Given the description of an element on the screen output the (x, y) to click on. 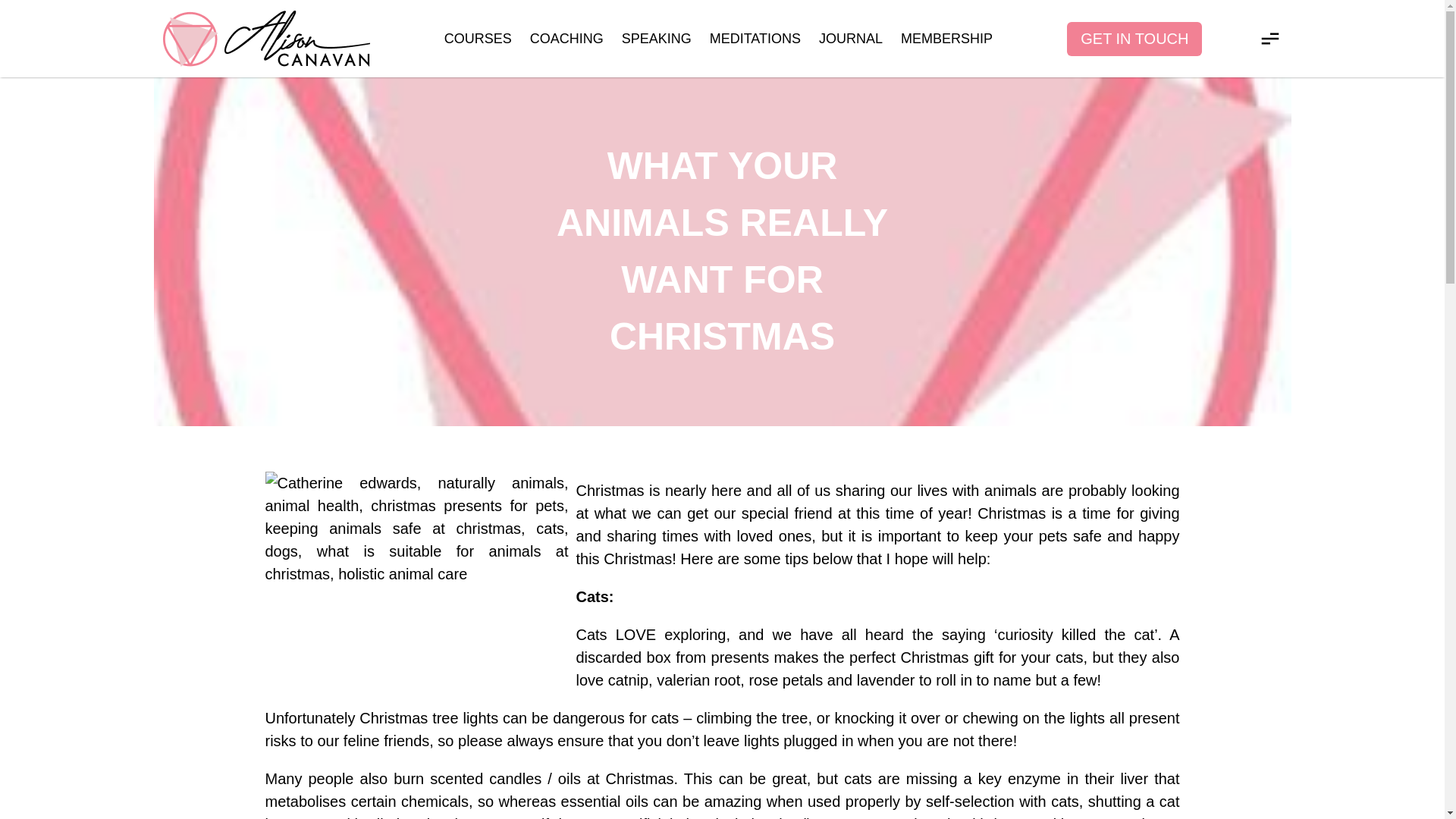
COURSES (478, 37)
COACHING (566, 37)
GET IN TOUCH (1134, 38)
SPEAKING (656, 37)
MEDITATIONS (755, 37)
MEMBERSHIP (946, 37)
JOURNAL (850, 37)
